Given the description of an element on the screen output the (x, y) to click on. 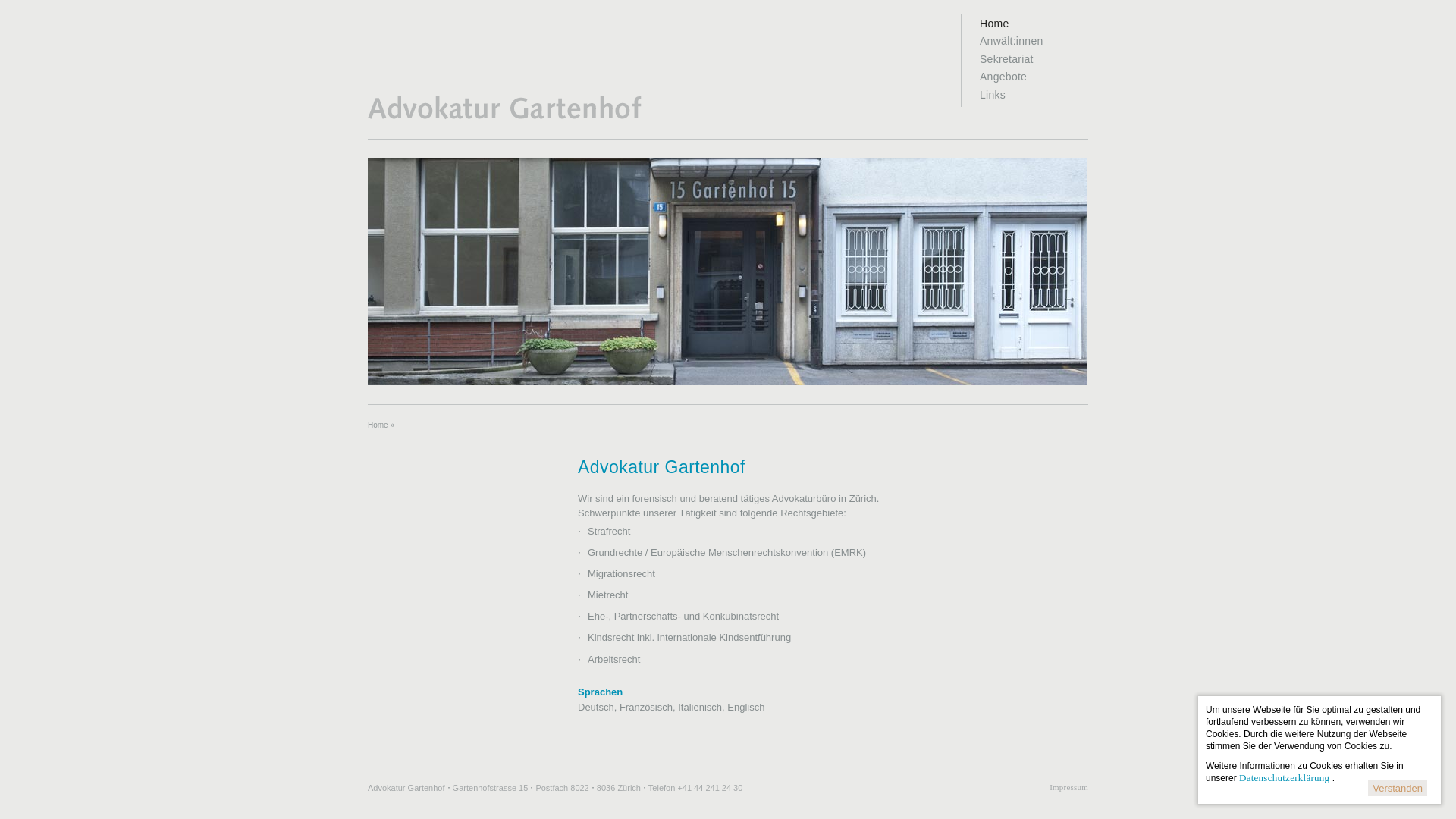
Home Element type: hover (505, 116)
Impressum Element type: text (1068, 787)
Verstanden Element type: text (1397, 788)
Angebote Element type: text (1032, 76)
Sekretariat Element type: text (1032, 59)
Home Element type: text (1032, 23)
Links Element type: text (1032, 94)
